Given the description of an element on the screen output the (x, y) to click on. 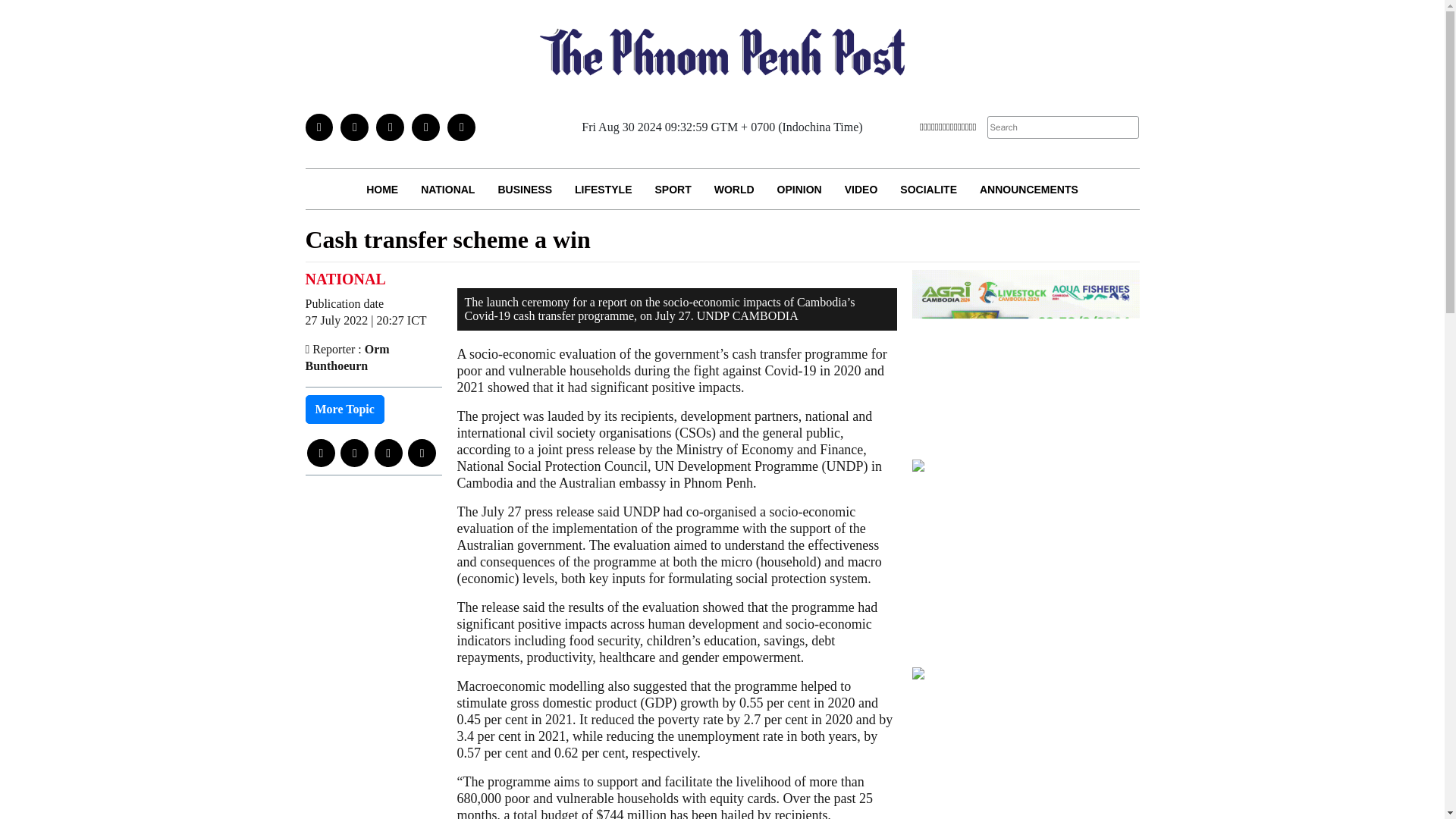
HOME (382, 188)
NATIONAL (447, 188)
WORLD (734, 188)
LIFESTYLE (603, 188)
OPINION (798, 188)
VIDEO (860, 188)
More Topic (344, 409)
ANNOUNCEMENTS (1028, 188)
SOCIALITE (928, 188)
SPORT (672, 188)
